Given the description of an element on the screen output the (x, y) to click on. 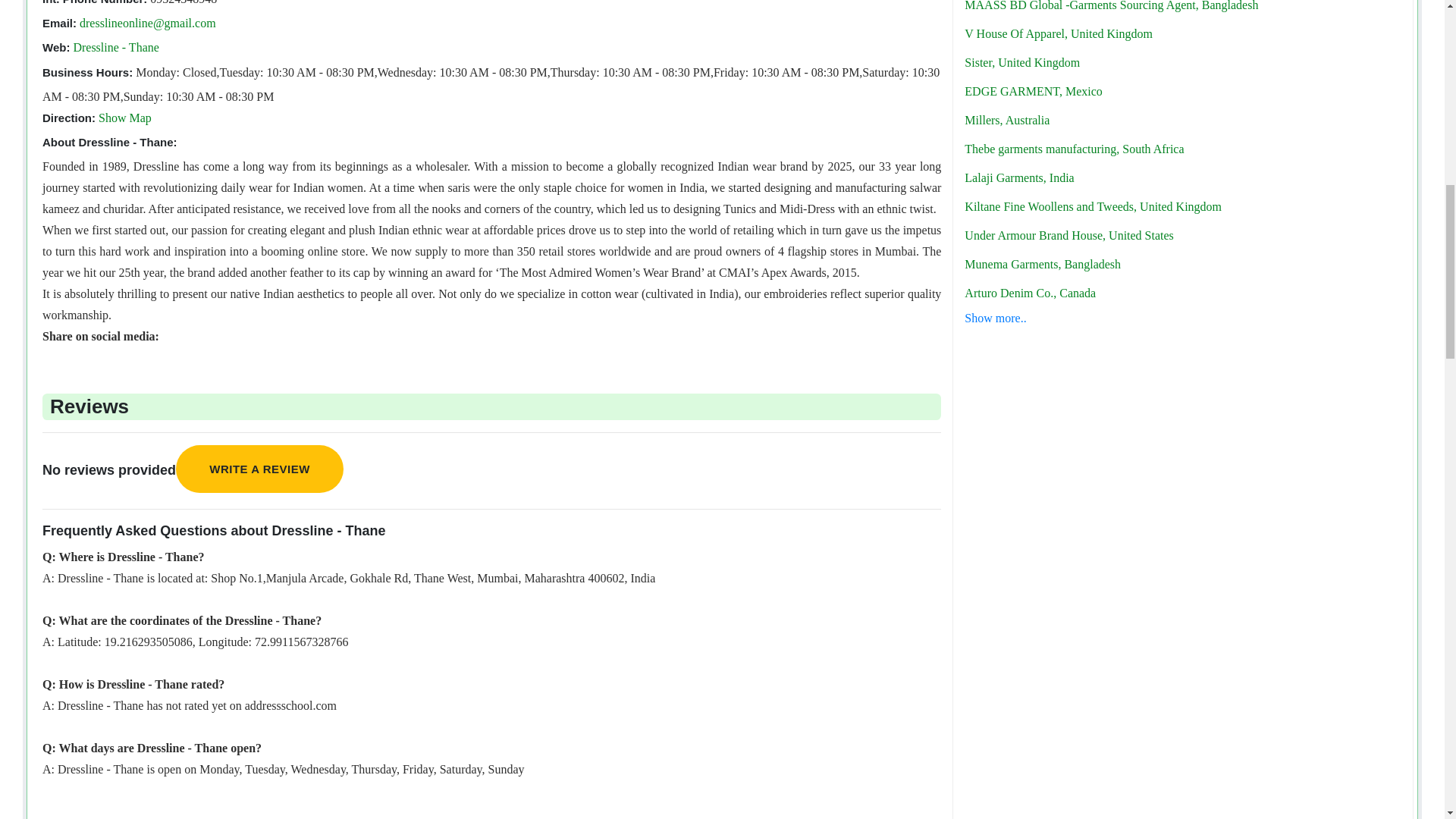
Dressline - Thane (115, 47)
Show Map (125, 117)
